Given the description of an element on the screen output the (x, y) to click on. 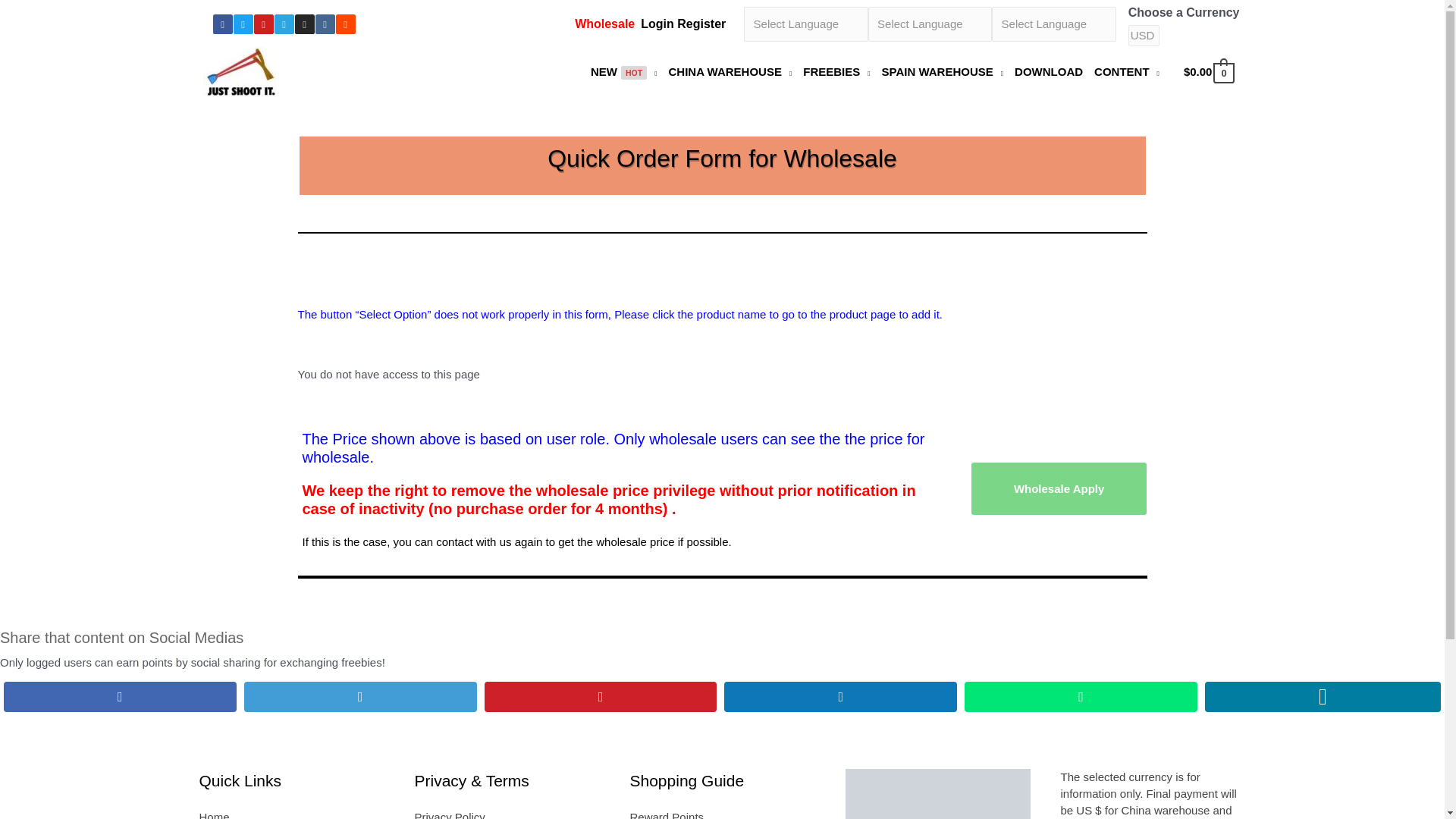
Twitter (242, 24)
Reddit (344, 24)
Youtube (263, 24)
NEWHOT (629, 71)
Wholesale (604, 23)
Facebook (221, 24)
Instagram (304, 24)
Telegram (284, 24)
Login Register (682, 23)
Vk (324, 24)
